Given the description of an element on the screen output the (x, y) to click on. 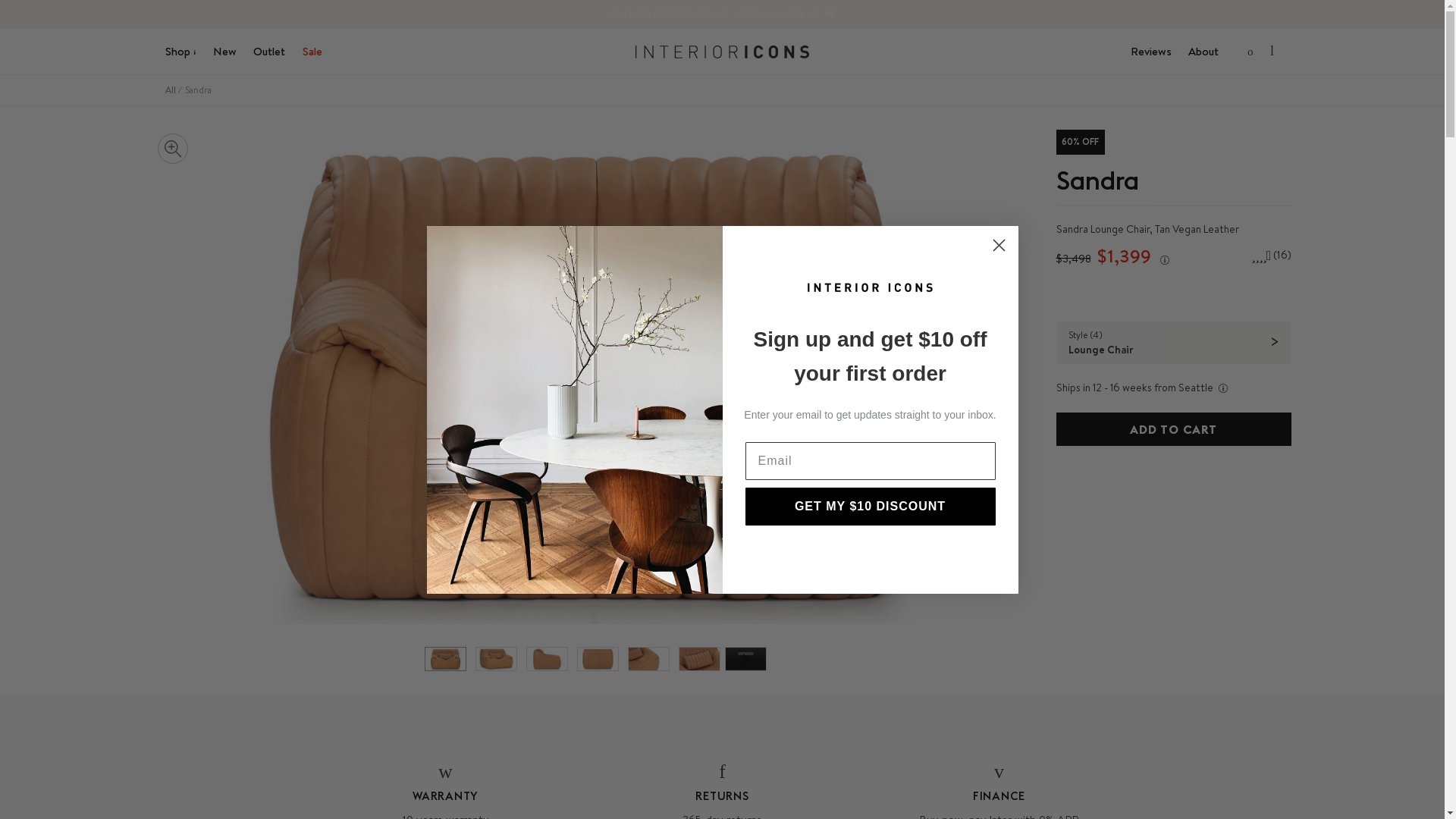
Expand (172, 148)
